Given the description of an element on the screen output the (x, y) to click on. 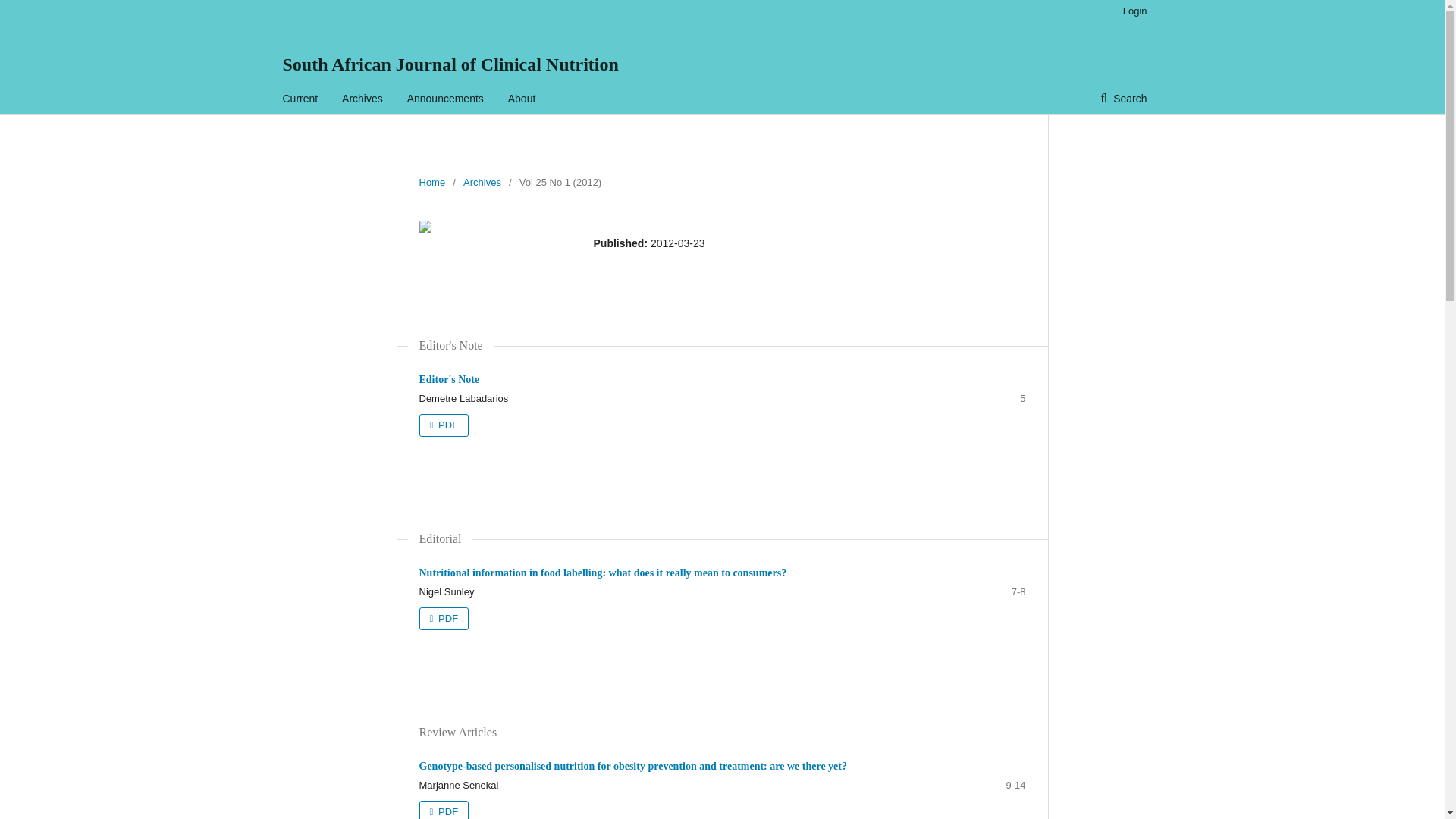
PDF (443, 425)
South African Journal of Clinical Nutrition (449, 64)
Editor's Note (449, 378)
Login (1131, 11)
Current (299, 98)
PDF (443, 809)
Archives (481, 182)
Search (1122, 98)
PDF (443, 618)
Archives (362, 98)
Announcements (445, 98)
About (521, 98)
Home (432, 182)
